Given the description of an element on the screen output the (x, y) to click on. 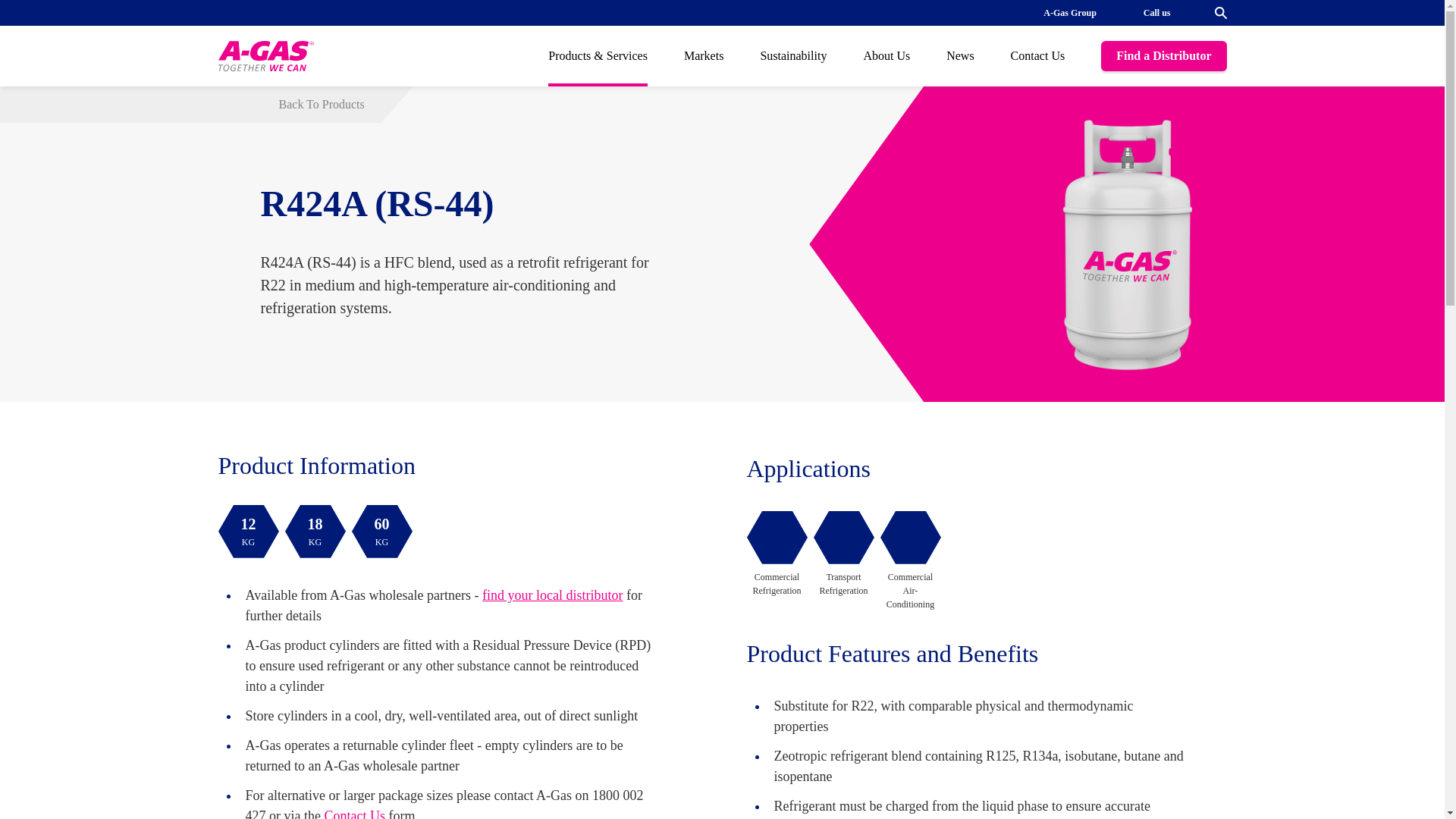
Sustainability (793, 55)
Find a Supplier (552, 595)
Open Search Modal (382, 531)
Call us (1220, 12)
A-Gas Group (1155, 12)
Contact Us (1069, 12)
Markets (315, 531)
